Given the description of an element on the screen output the (x, y) to click on. 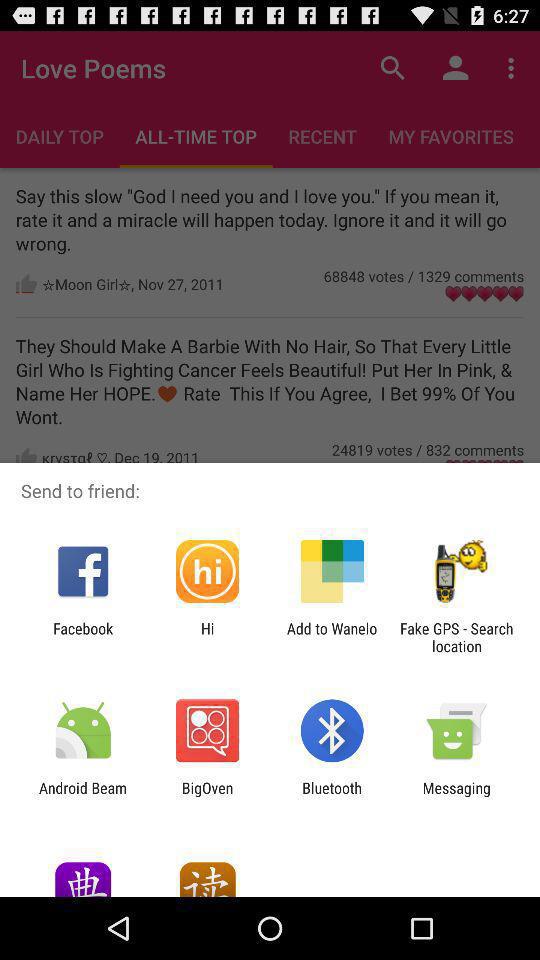
open item next to bigoven app (83, 796)
